Given the description of an element on the screen output the (x, y) to click on. 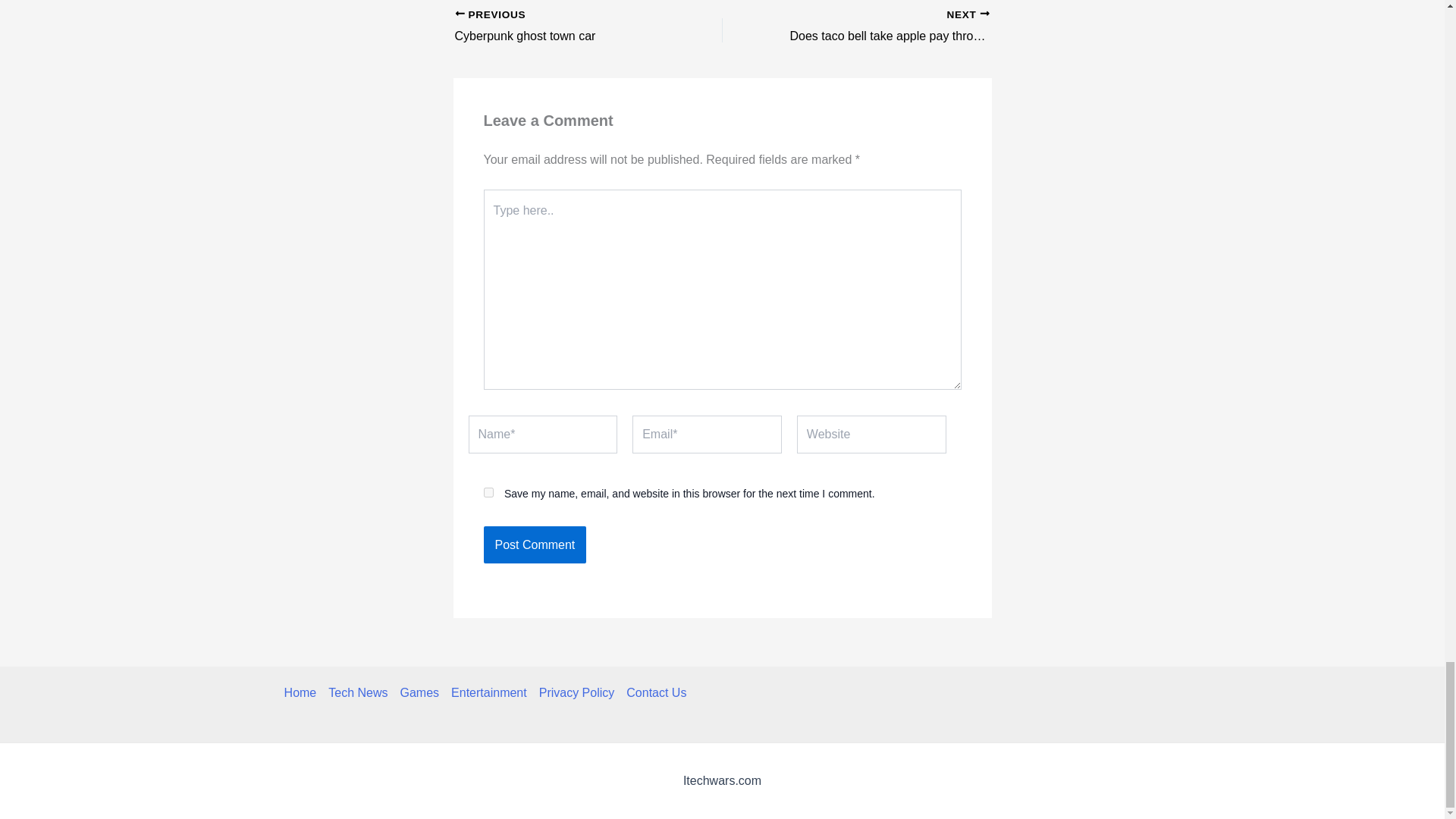
Contact Us (561, 26)
yes (652, 692)
Home (488, 492)
Cyberpunk ghost town car (882, 26)
Games (303, 692)
Entertainment (561, 26)
Does taco bell take apple pay through the drive-through (419, 692)
Post Comment (488, 692)
